Given the description of an element on the screen output the (x, y) to click on. 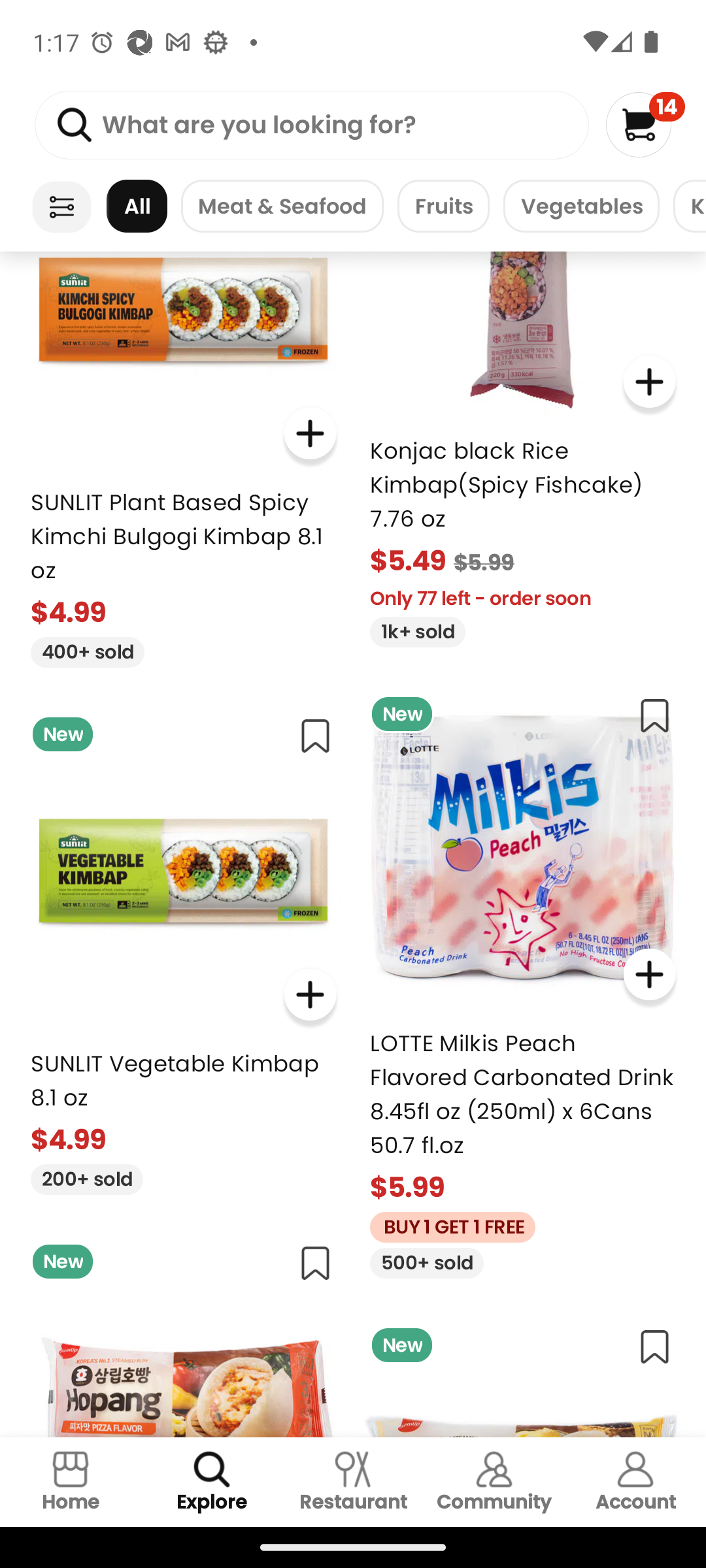
What are you looking for? (311, 124)
14 (644, 124)
All (136, 206)
Meat & Seafood (282, 206)
Fruits (443, 206)
Vegetables (581, 206)
New SUNLIT Vegetable Kimbap 8.1 oz $4.99 200+ sold (182, 948)
BUY 1 GET 1 FREE (445, 1224)
Home (70, 1482)
Explore (211, 1482)
Restaurant (352, 1482)
Community (493, 1482)
Account (635, 1482)
